Given the description of an element on the screen output the (x, y) to click on. 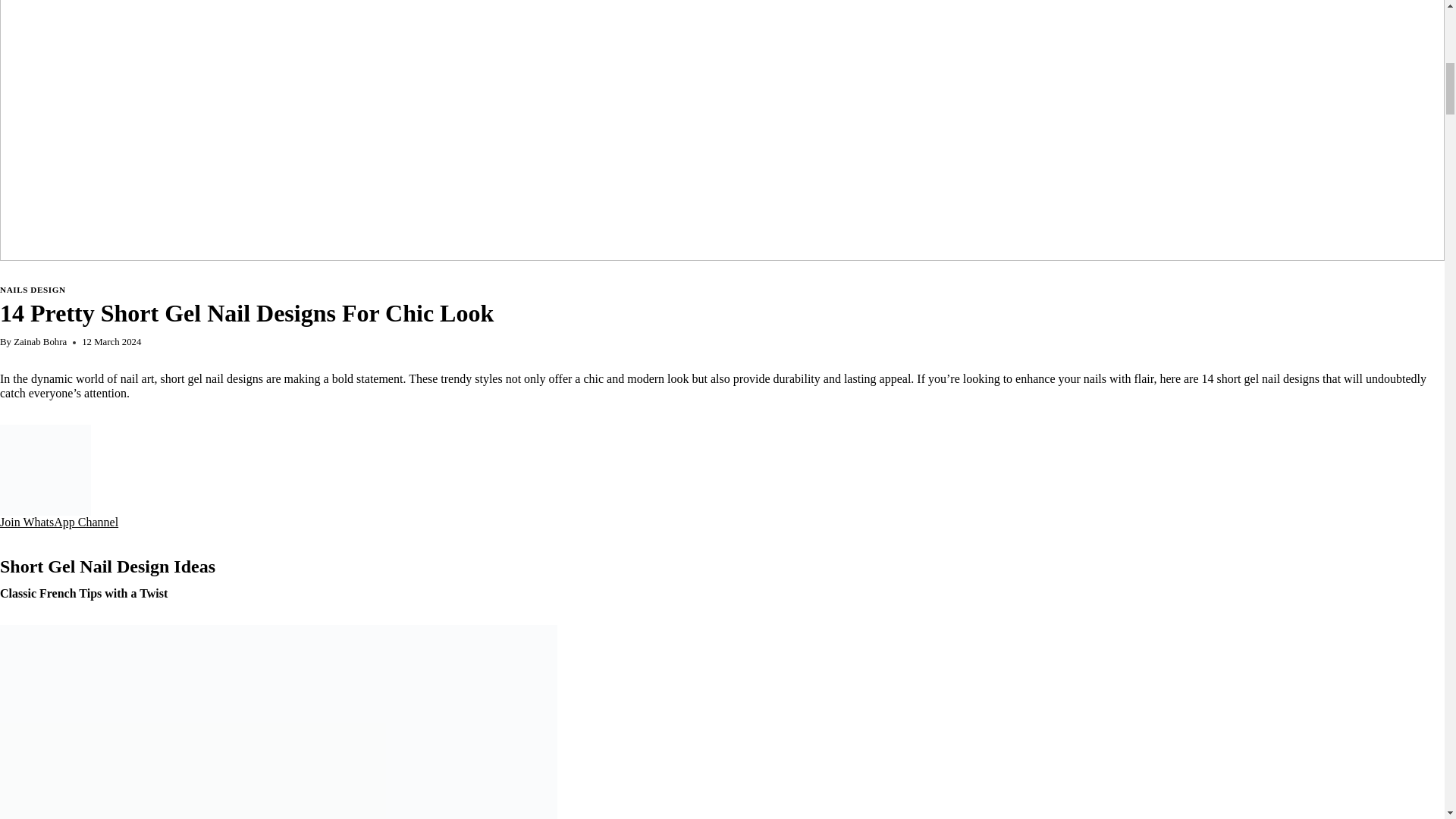
Zainab Bohra (39, 341)
NAILS DESIGN (32, 289)
